Given the description of an element on the screen output the (x, y) to click on. 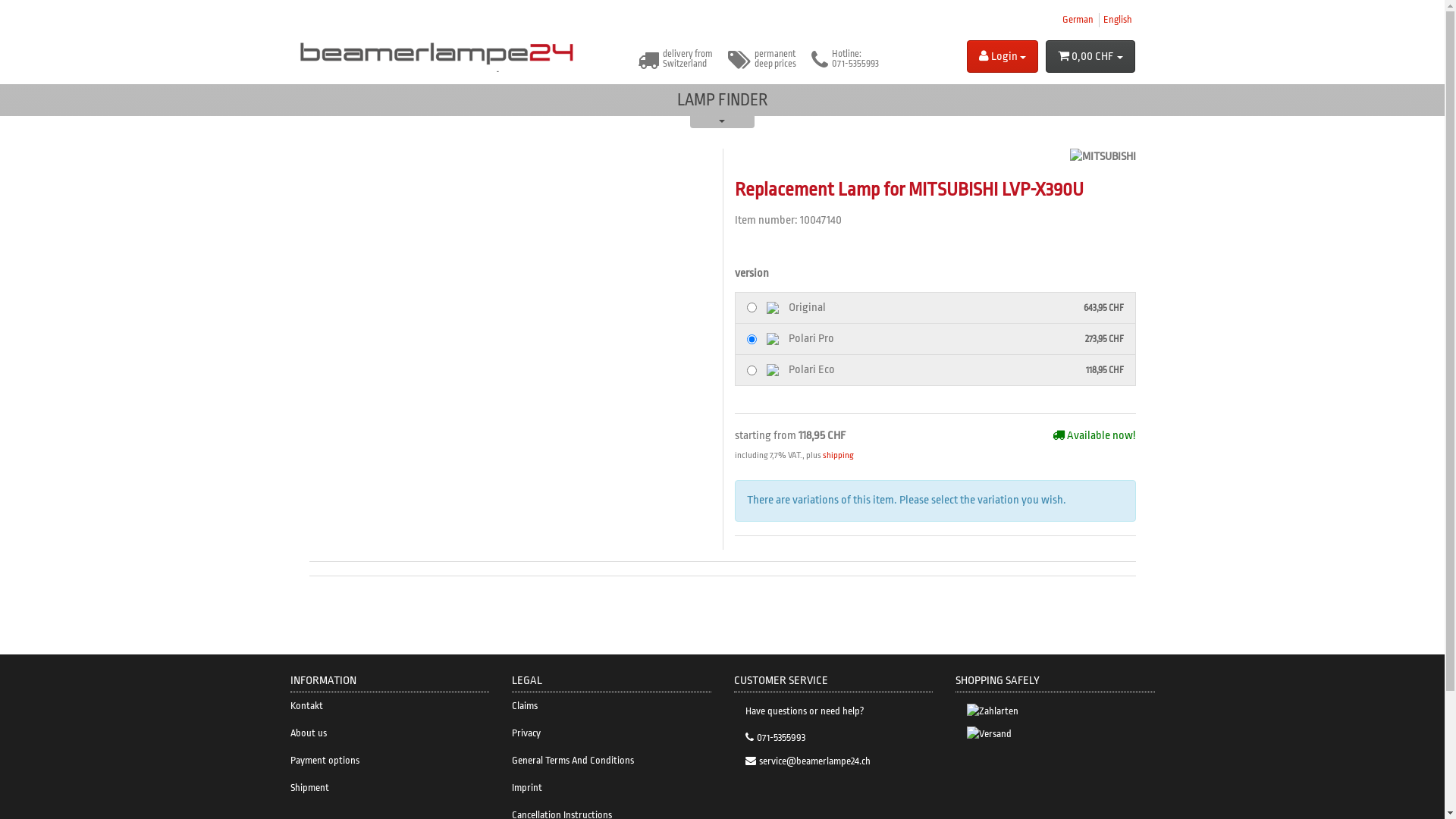
beamerlampe24.ch Element type: hover (438, 49)
Kontakt Element type: text (389, 705)
071-5355993 Element type: text (832, 737)
0,00 CHF Element type: text (1090, 56)
Payment options Element type: text (389, 760)
service@beamerlampe24.ch Element type: text (832, 760)
About us Element type: text (389, 732)
Login Element type: text (1002, 56)
Imprint Element type: text (611, 787)
German Element type: text (1076, 19)
shipping Element type: text (837, 455)
General Terms And Conditions Element type: text (611, 760)
Claims Element type: text (611, 705)
English Element type: text (1116, 19)
Shipment Element type: text (389, 787)
Privacy Element type: text (611, 732)
